Given the description of an element on the screen output the (x, y) to click on. 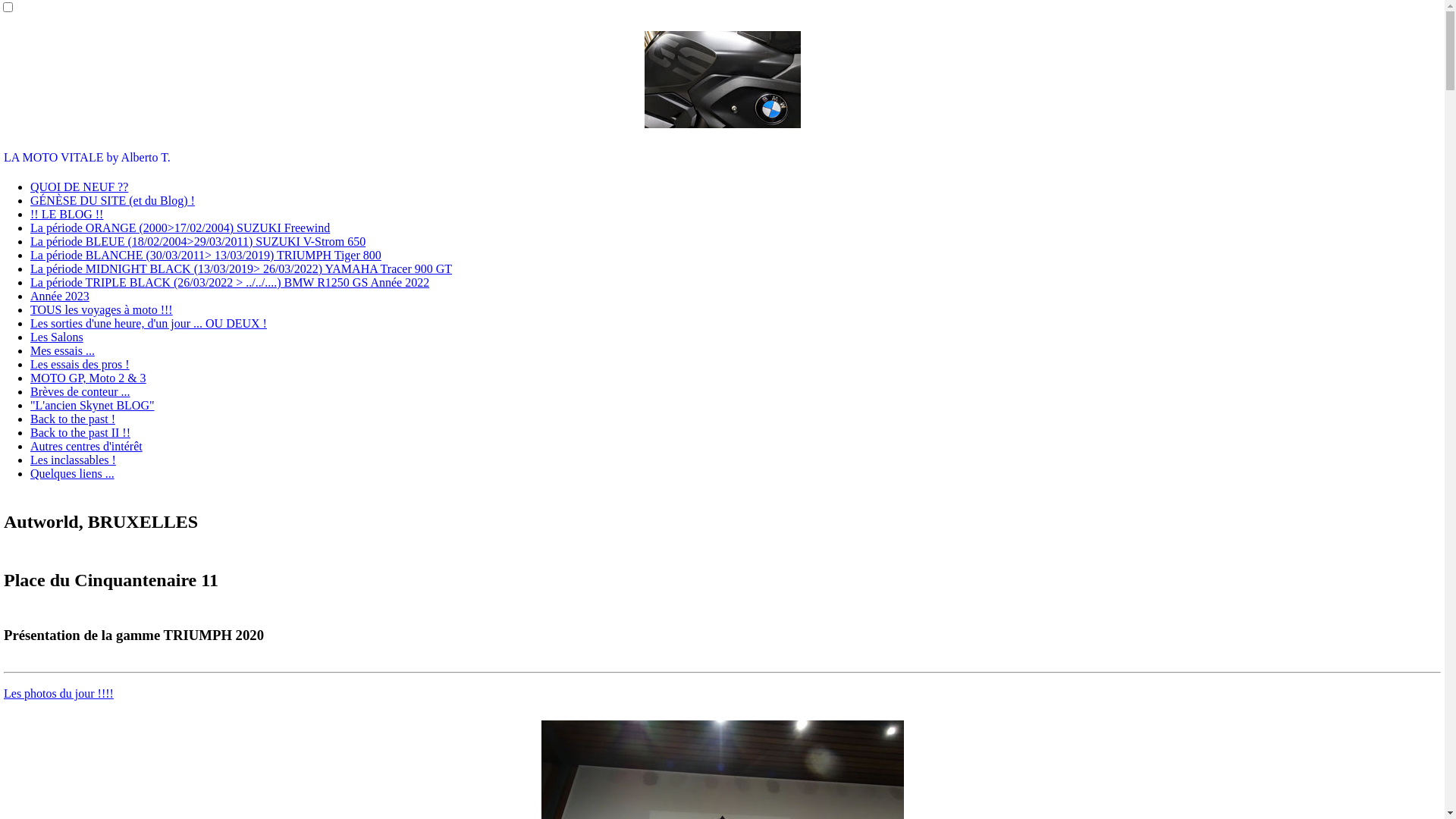
"L'ancien Skynet BLOG" Element type: text (91, 404)
MOTO GP, Moto 2 & 3 Element type: text (88, 377)
LA MOTO VITALE by Alberto T. Element type: text (86, 156)
Les inclassables ! Element type: text (73, 459)
QUOI DE NEUF ?? Element type: text (79, 186)
!! LE BLOG !! Element type: text (66, 213)
Back to the past II !! Element type: text (80, 432)
Back to the past ! Element type: text (72, 418)
Les sorties d'une heure, d'un jour ... OU DEUX ! Element type: text (148, 322)
Quelques liens ... Element type: text (72, 473)
Les photos du jour !!!! Element type: text (58, 693)
Mes essais ... Element type: text (62, 350)
Les essais des pros ! Element type: text (79, 363)
Les Salons Element type: text (56, 336)
